Given the description of an element on the screen output the (x, y) to click on. 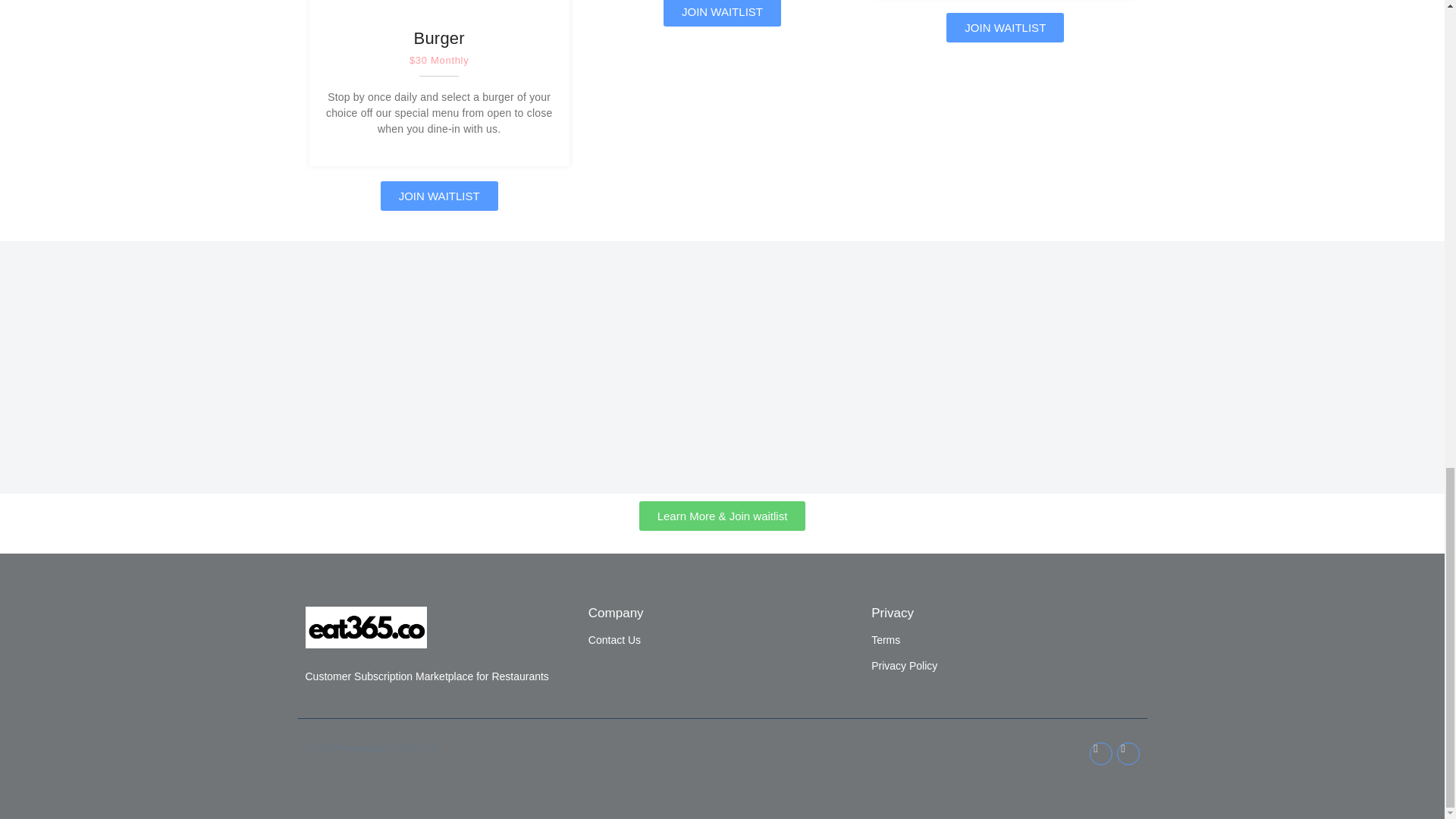
Privacy Policy (903, 665)
Terms (884, 639)
JOIN WAITLIST (721, 13)
JOIN WAITLIST (438, 195)
Contact Us (614, 639)
JOIN WAITLIST (1005, 27)
